Given the description of an element on the screen output the (x, y) to click on. 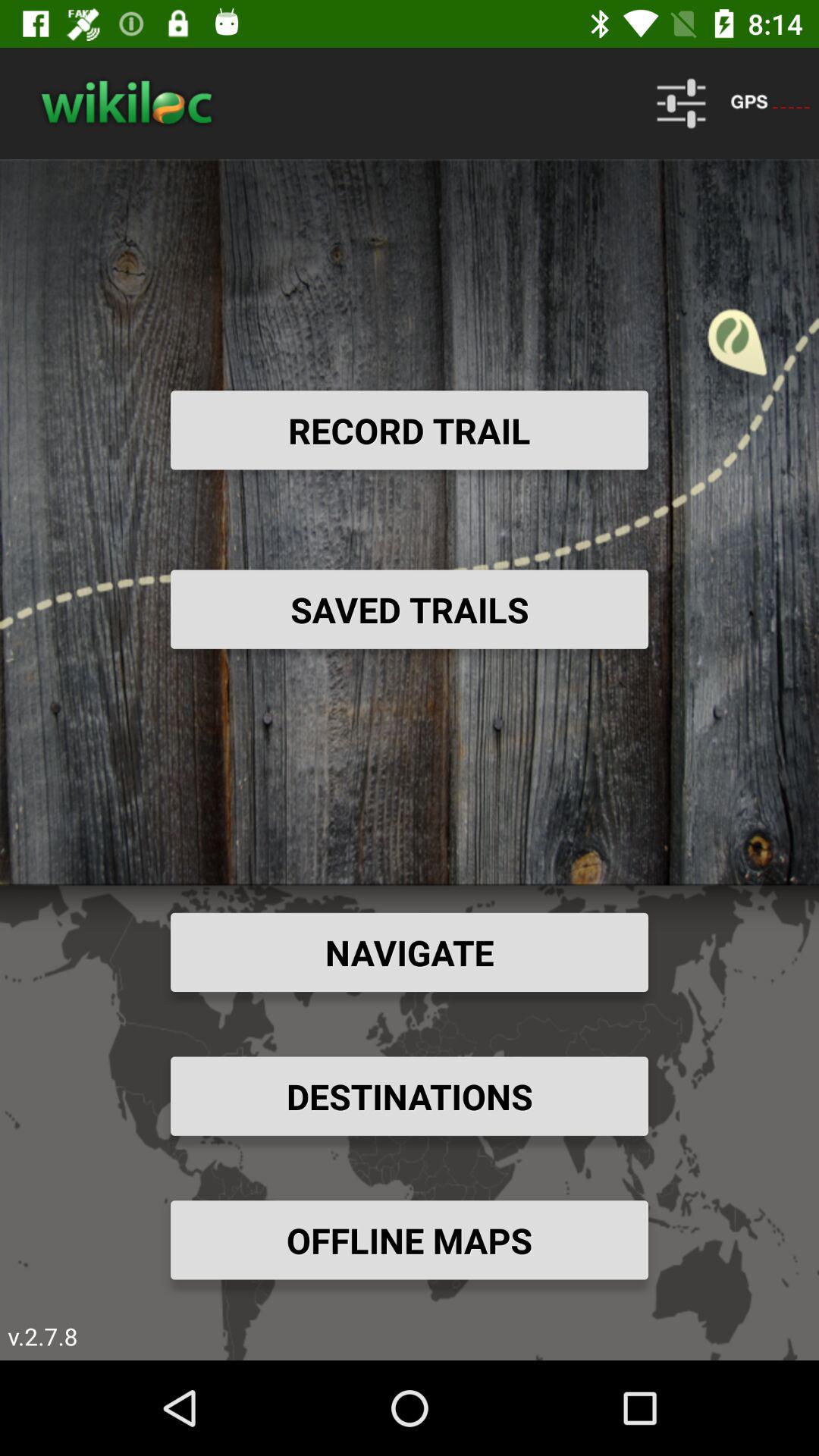
launch item below the navigate (409, 1095)
